Given the description of an element on the screen output the (x, y) to click on. 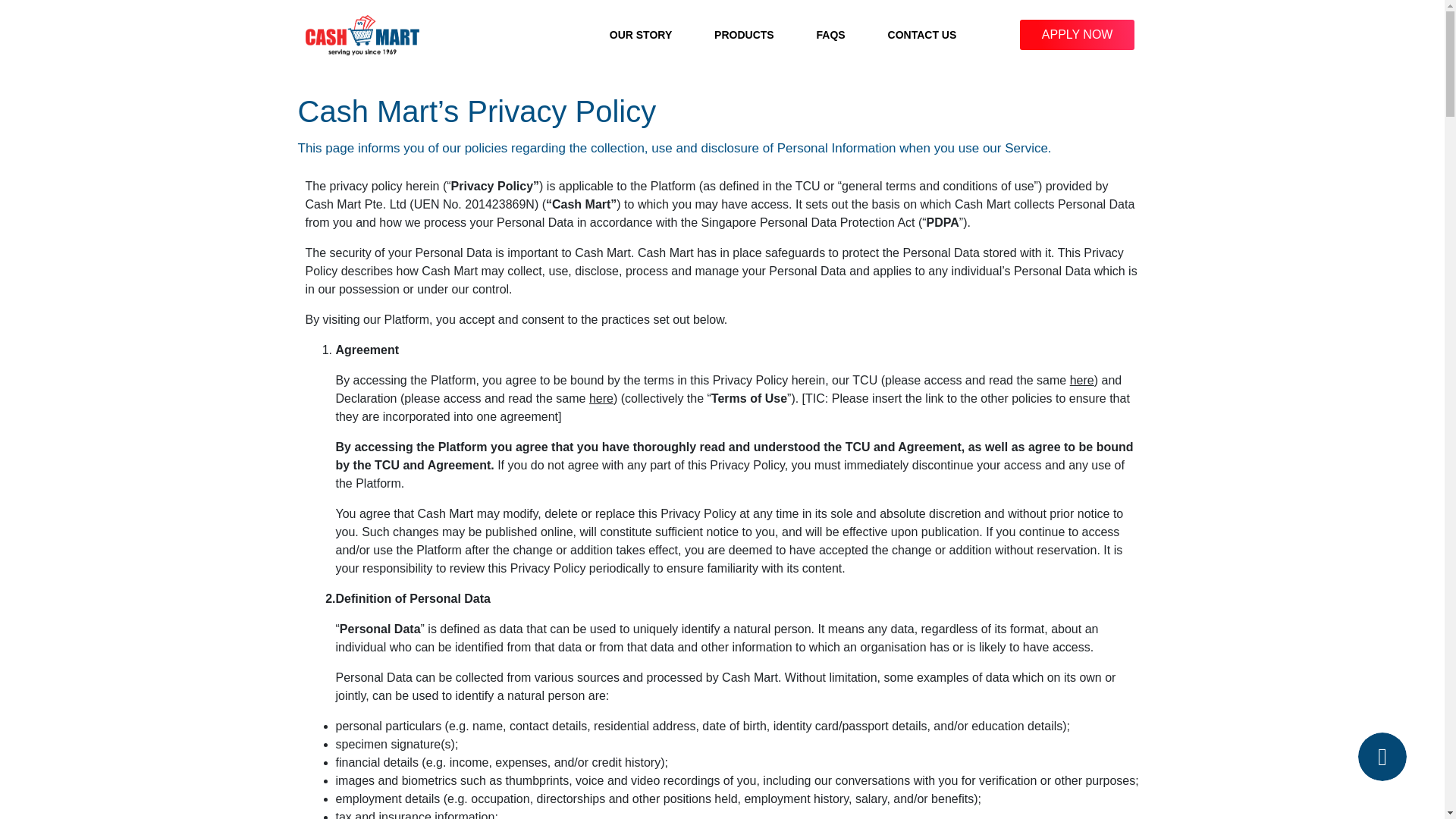
FAQS (831, 34)
OUR STORY (640, 34)
CONTACT US (921, 34)
PRODUCTS (743, 34)
APPLY NOW (1077, 34)
